Given the description of an element on the screen output the (x, y) to click on. 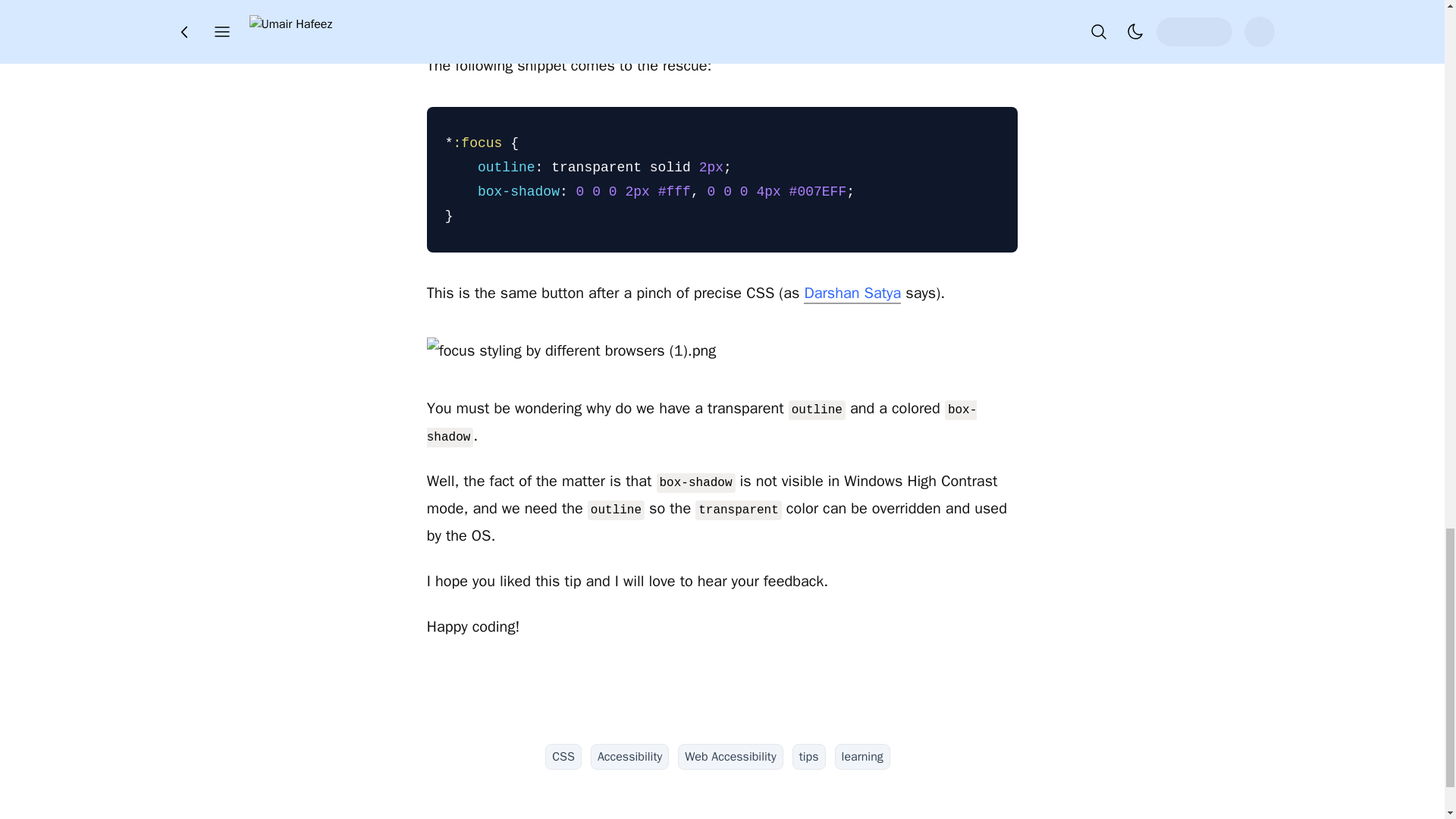
Accessibility (629, 756)
learning (861, 756)
Darshan Satya (852, 293)
tips (808, 756)
Web Accessibility (730, 756)
CSS (562, 756)
